Given the description of an element on the screen output the (x, y) to click on. 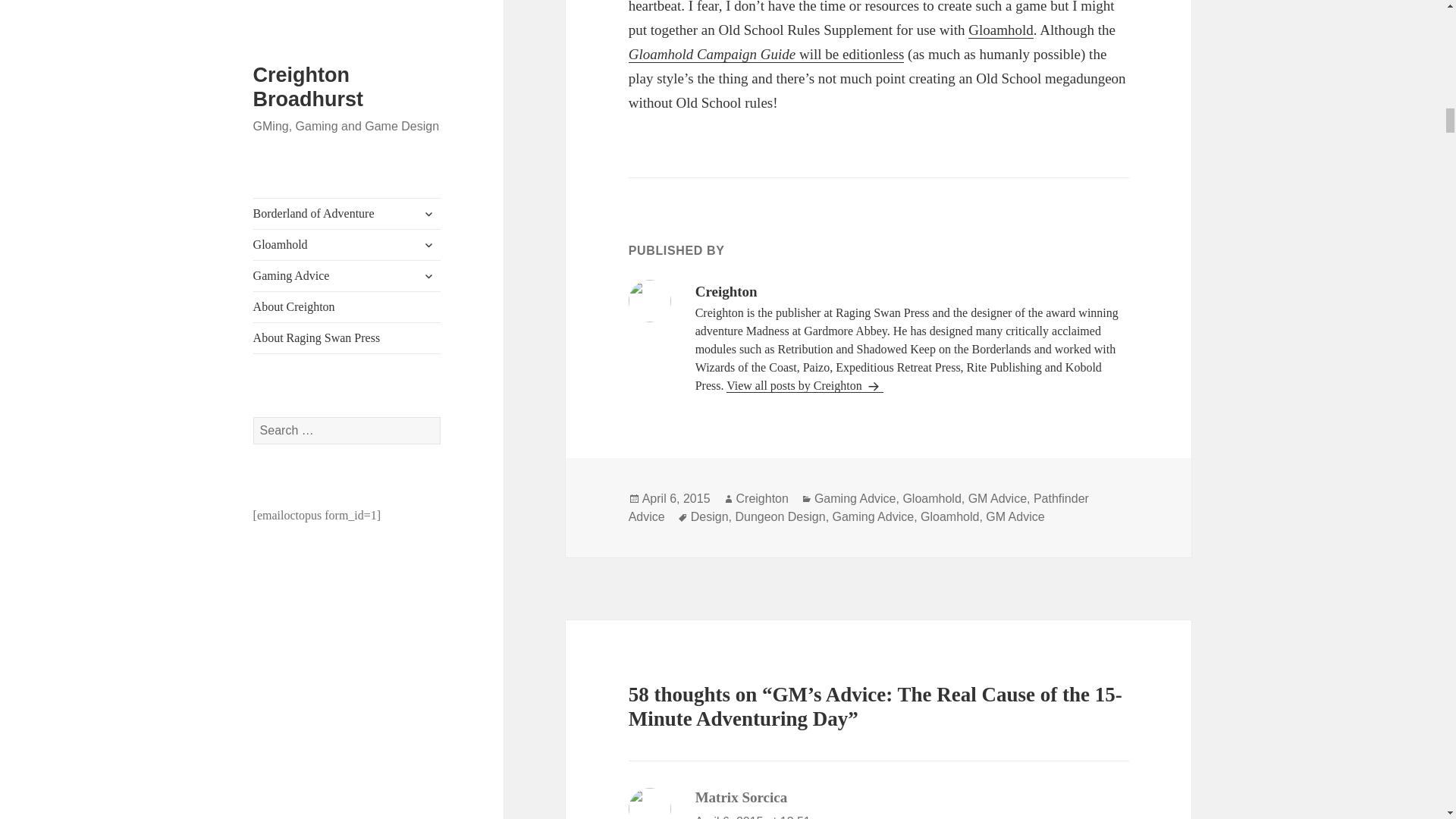
Gloamhold Campaign Guide will be editionless (766, 54)
View all posts by Creighton (804, 386)
Gloamhold Status Update: The End of the Beginning (766, 54)
Gloamhold (1000, 30)
April 6, 2015 (676, 499)
Gloamhold (1000, 30)
